Given the description of an element on the screen output the (x, y) to click on. 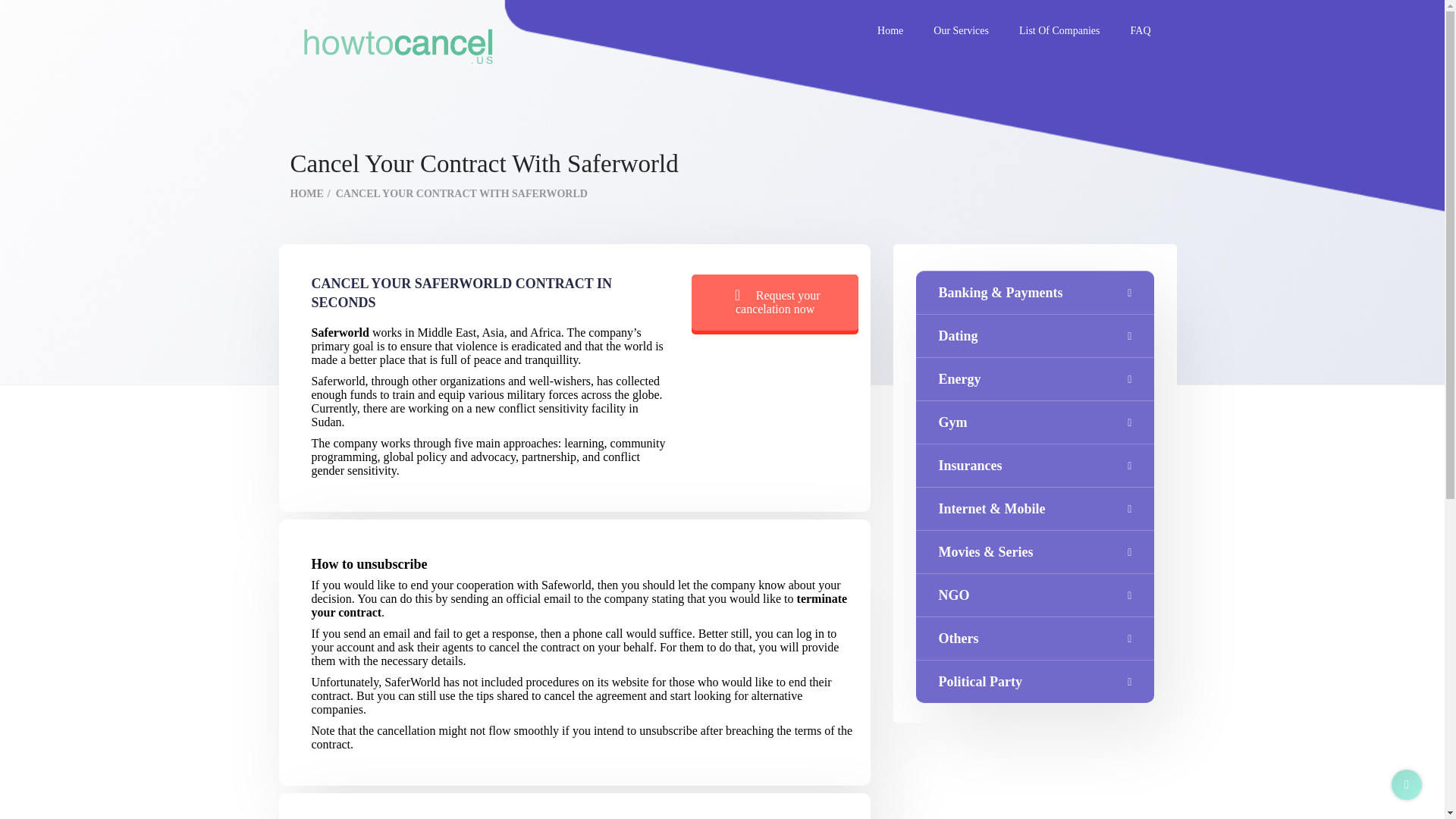
Our Services (961, 31)
Home (889, 31)
Request your cancelation now (775, 302)
List Of Companies (1059, 31)
HOME (309, 193)
Home (889, 31)
Log In (554, 502)
